Given the description of an element on the screen output the (x, y) to click on. 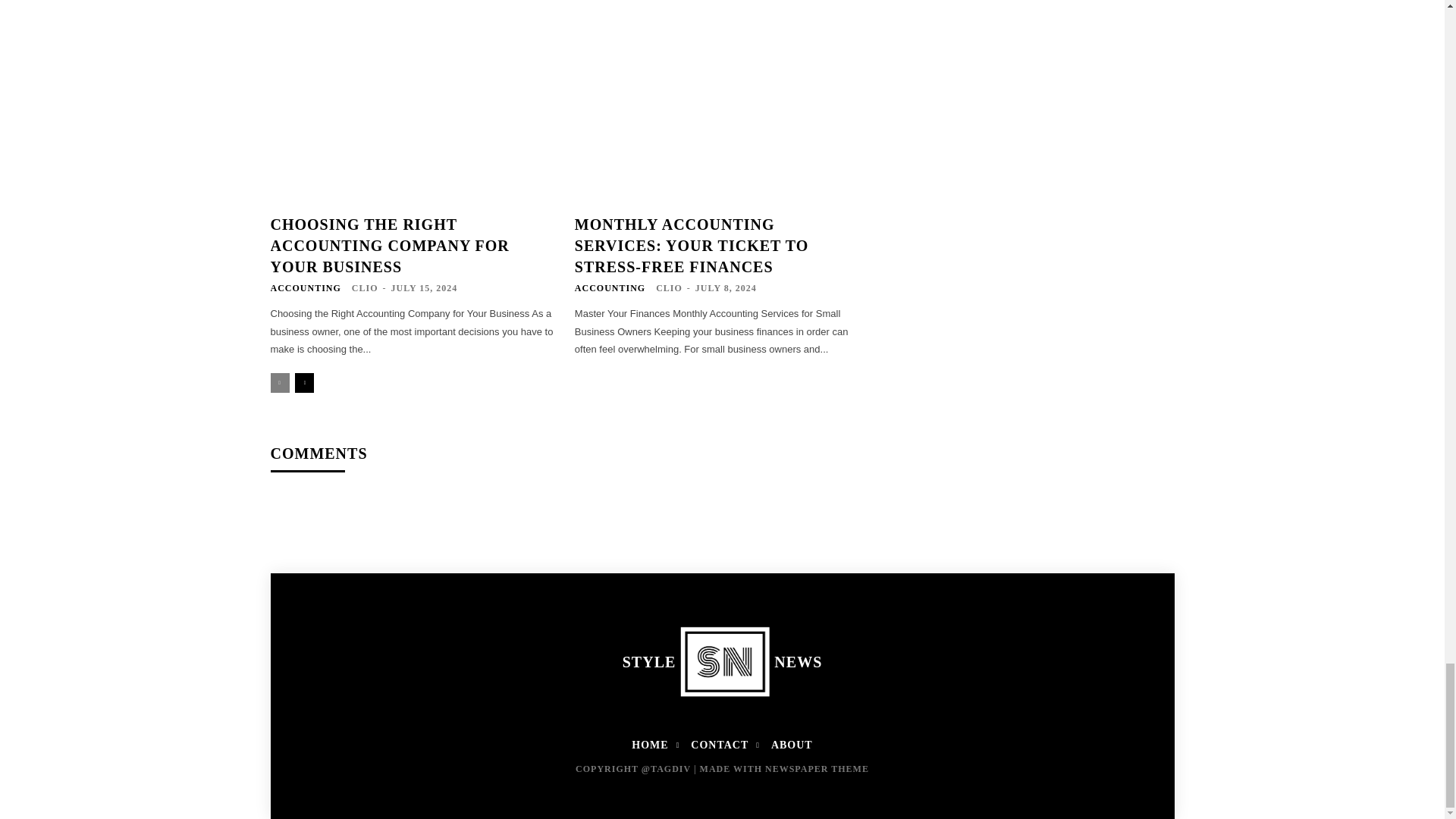
Choosing the Right Accounting Company for Your Business (412, 108)
